Given the description of an element on the screen output the (x, y) to click on. 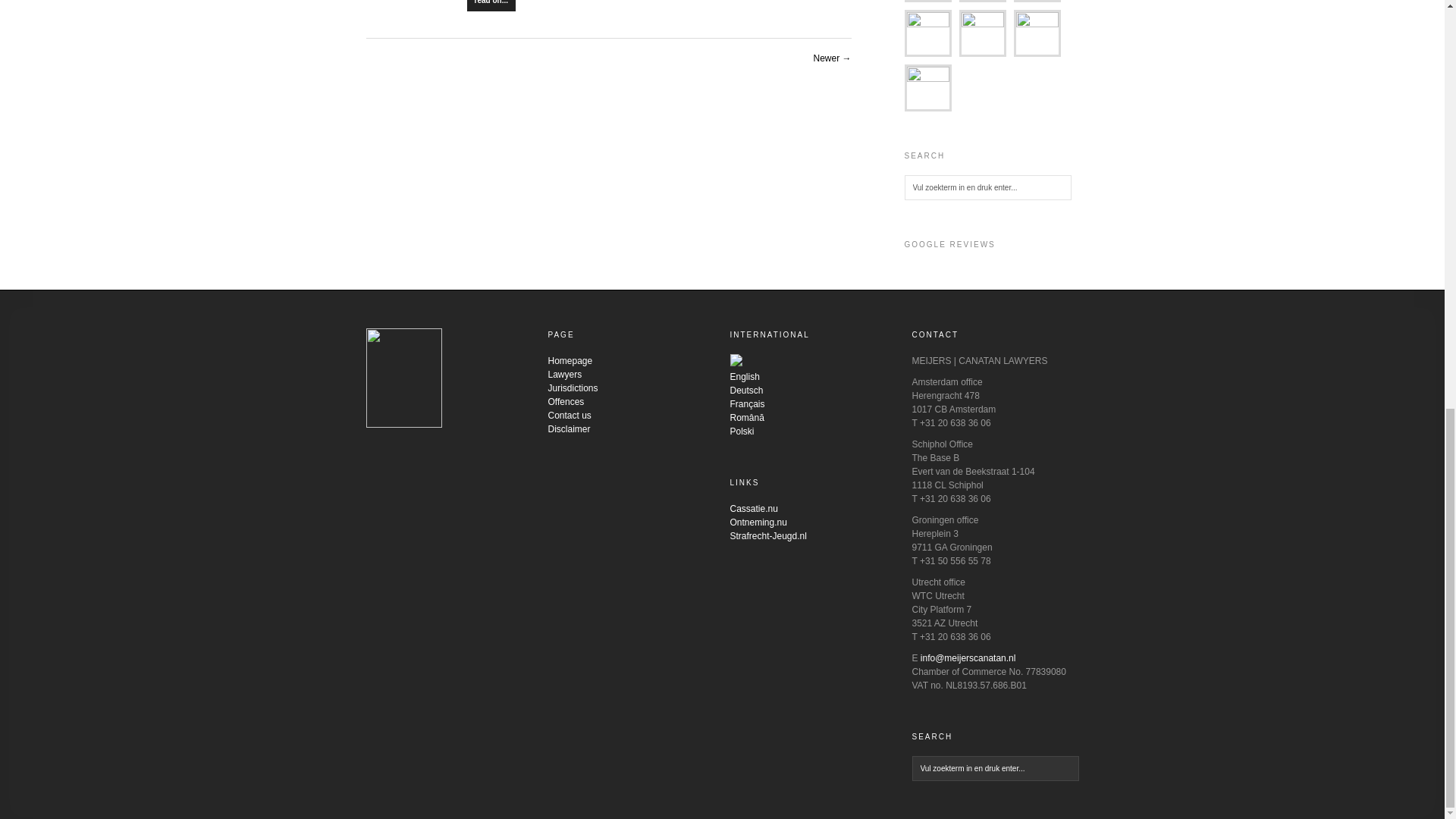
Vul zoekterm in en druk enter... (994, 768)
Vul zoekterm in en druk enter... (987, 187)
